Given the description of an element on the screen output the (x, y) to click on. 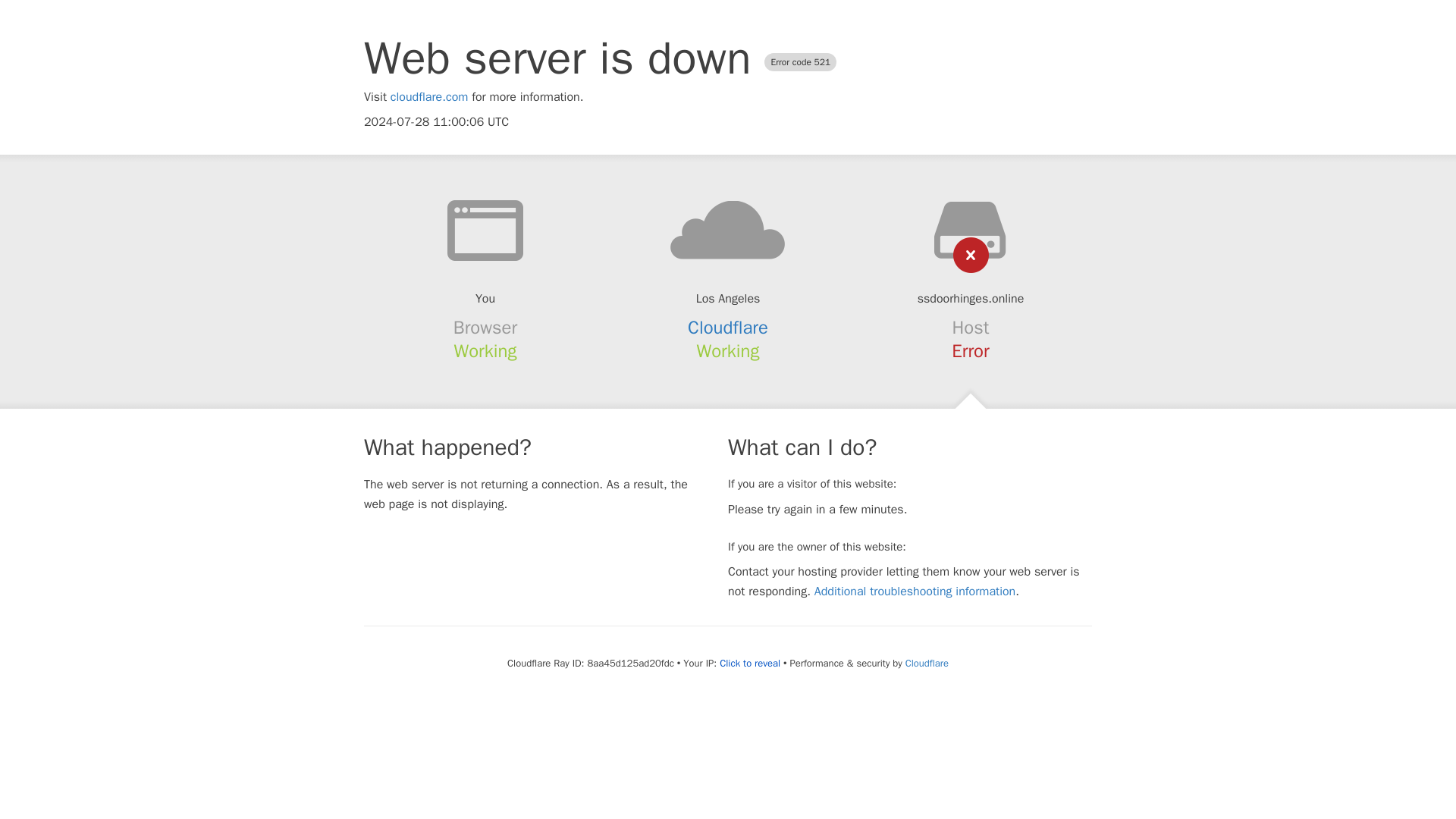
Cloudflare (927, 662)
Additional troubleshooting information (913, 590)
Cloudflare (727, 327)
cloudflare.com (429, 96)
Click to reveal (749, 663)
